Given the description of an element on the screen output the (x, y) to click on. 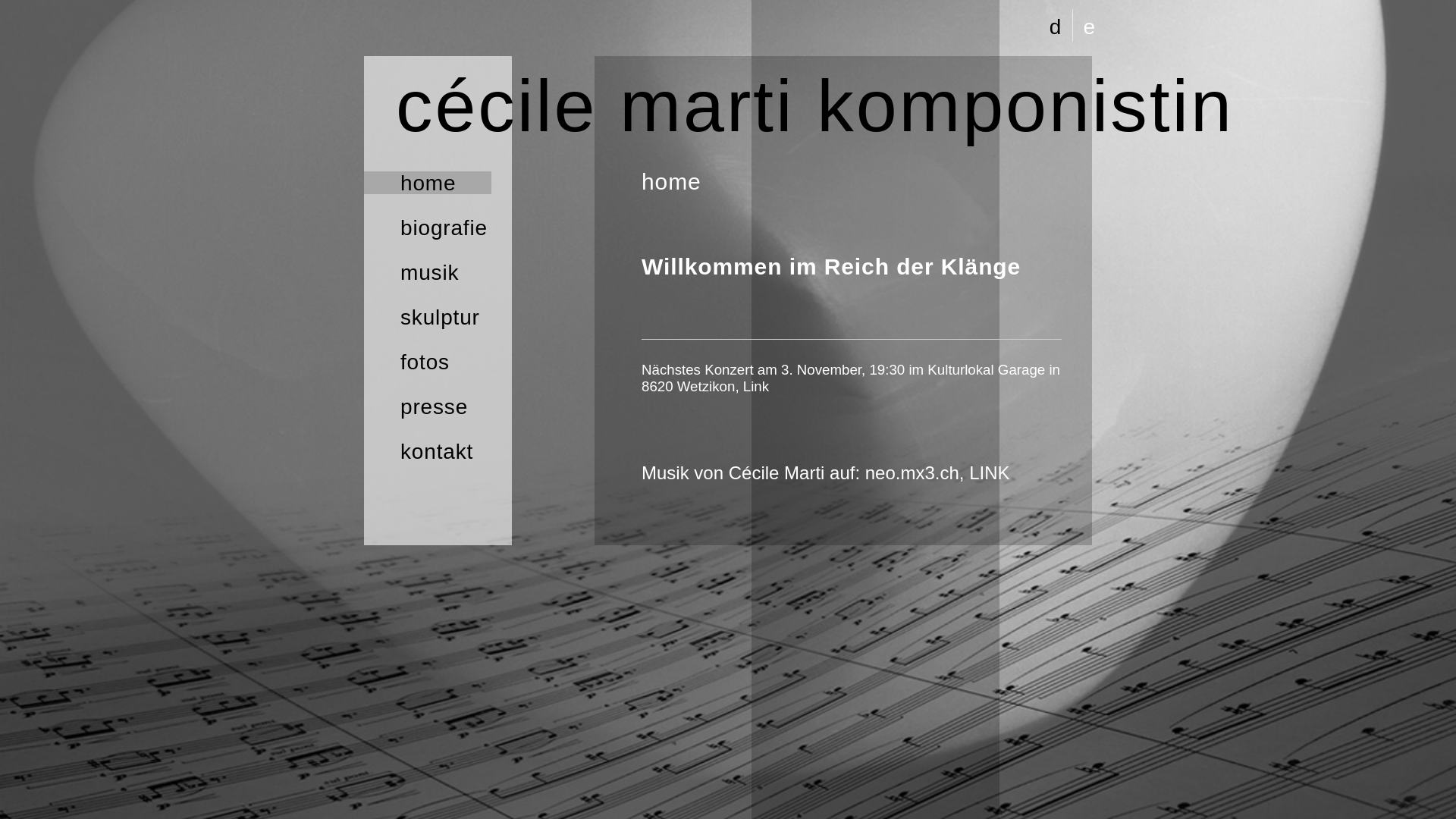
biografie Element type: text (427, 227)
presse Element type: text (427, 406)
musik Element type: text (427, 271)
Link Element type: text (754, 386)
skulptur Element type: text (427, 316)
LINK Element type: text (989, 472)
e Element type: text (1088, 26)
d Element type: text (1055, 26)
fotos Element type: text (427, 361)
kontakt Element type: text (427, 450)
home Element type: text (427, 182)
